Given the description of an element on the screen output the (x, y) to click on. 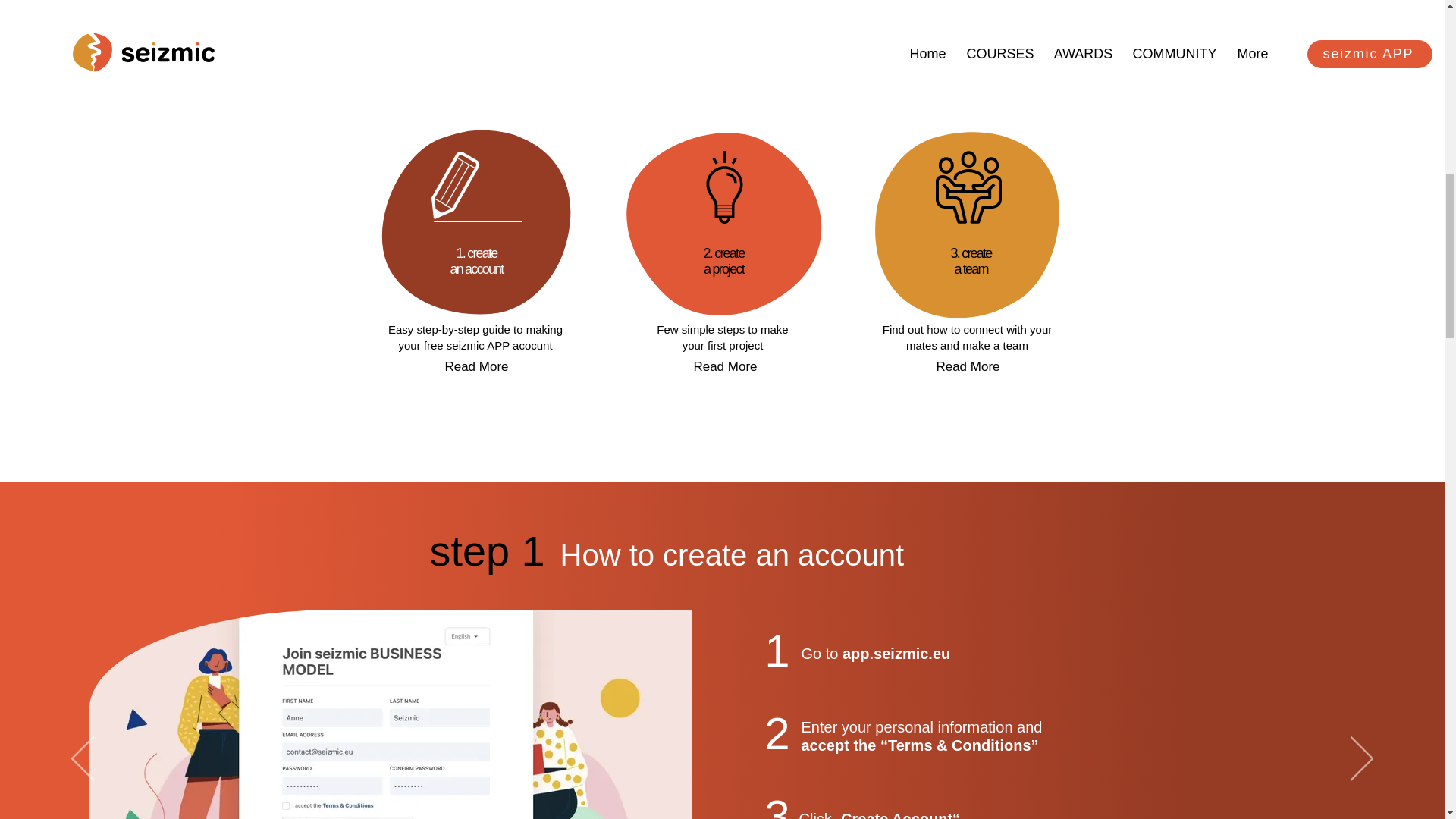
Read More (967, 366)
Read More (475, 260)
app.seizmic.eu (486, 552)
Read More (970, 260)
